Given the description of an element on the screen output the (x, y) to click on. 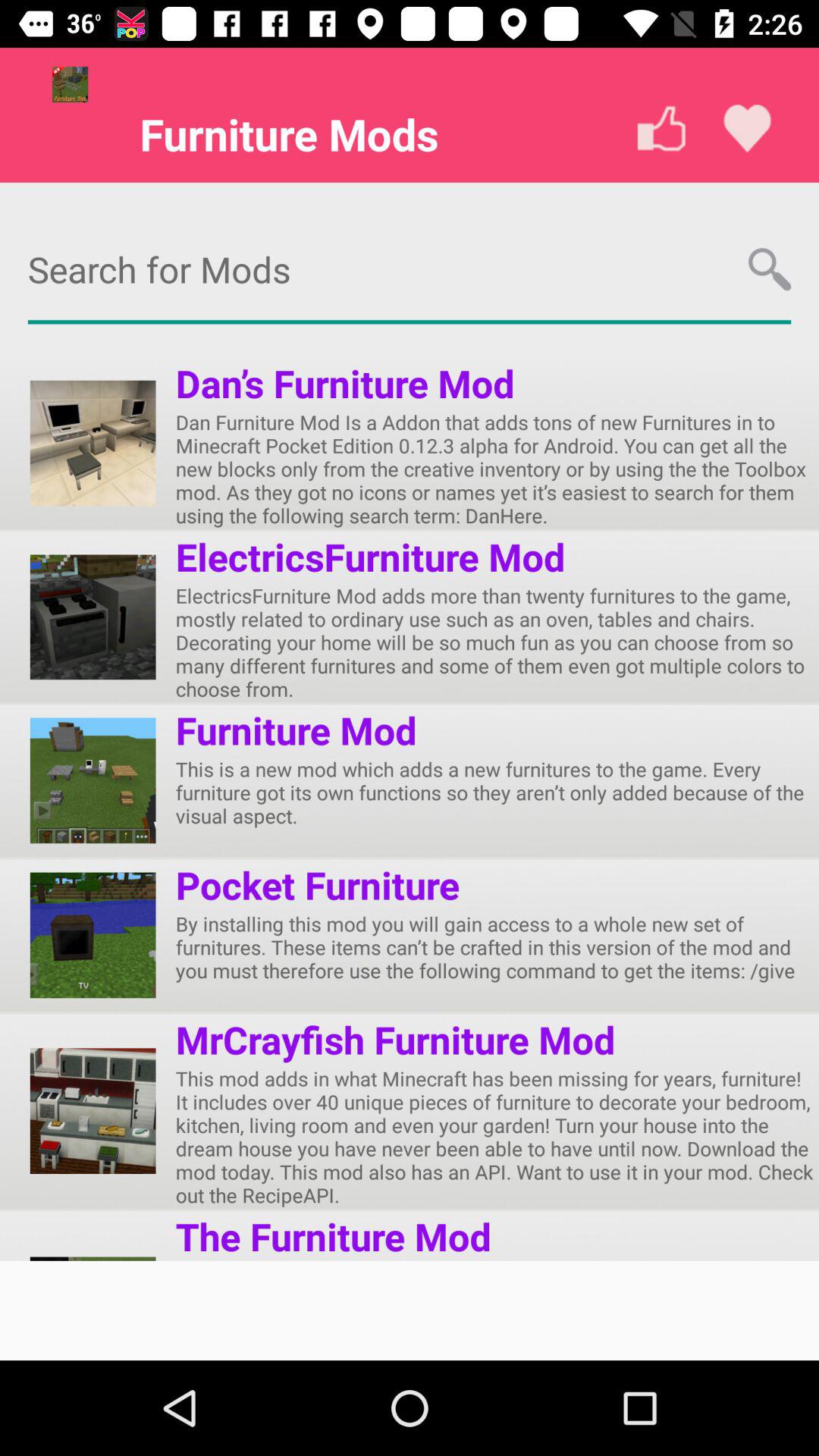
press the item below pocket furniture app (497, 946)
